Given the description of an element on the screen output the (x, y) to click on. 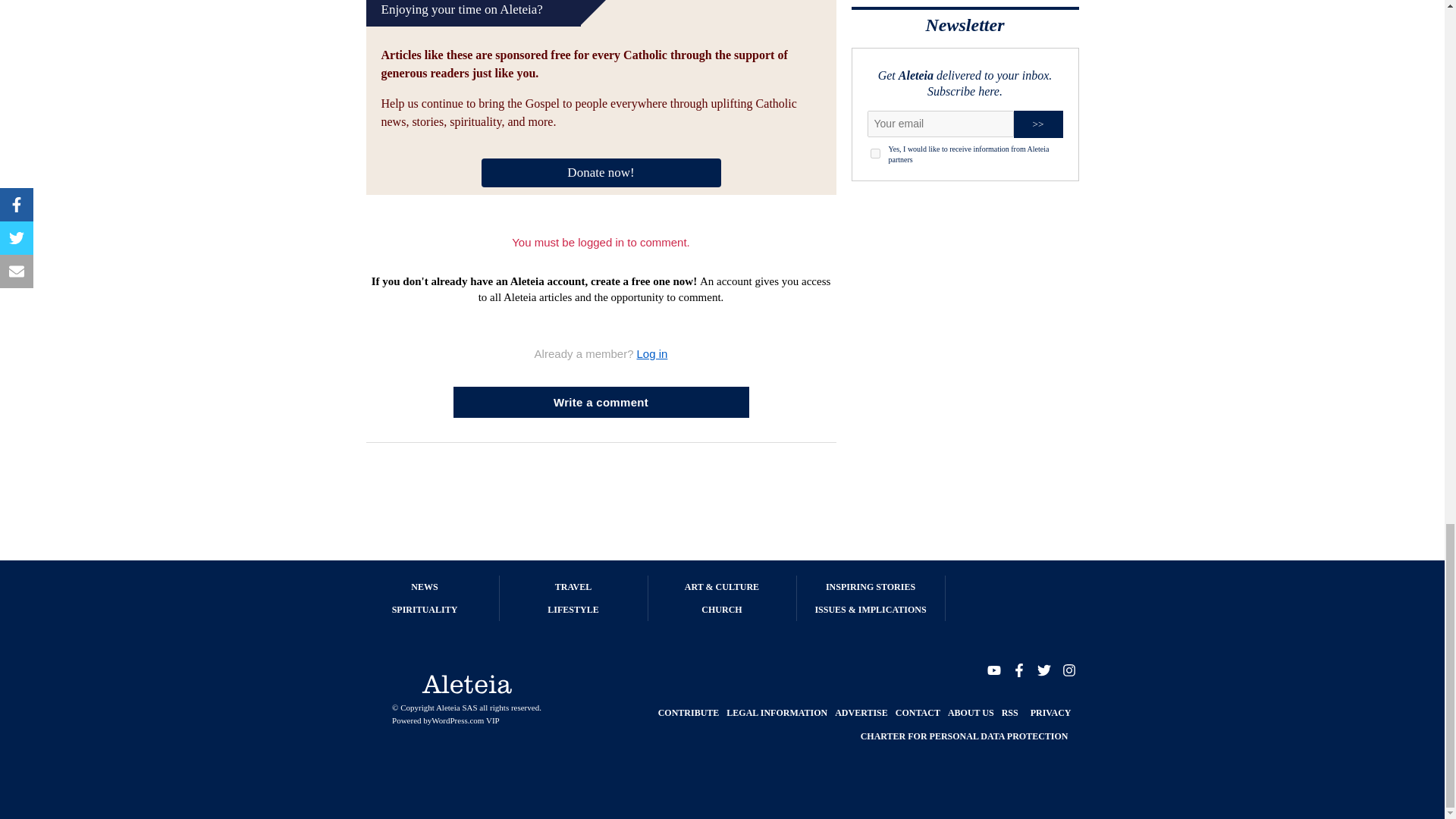
social-ig-footer (1068, 669)
social-fb-footer (1018, 669)
1 (875, 153)
social-yt-footer (994, 669)
